Given the description of an element on the screen output the (x, y) to click on. 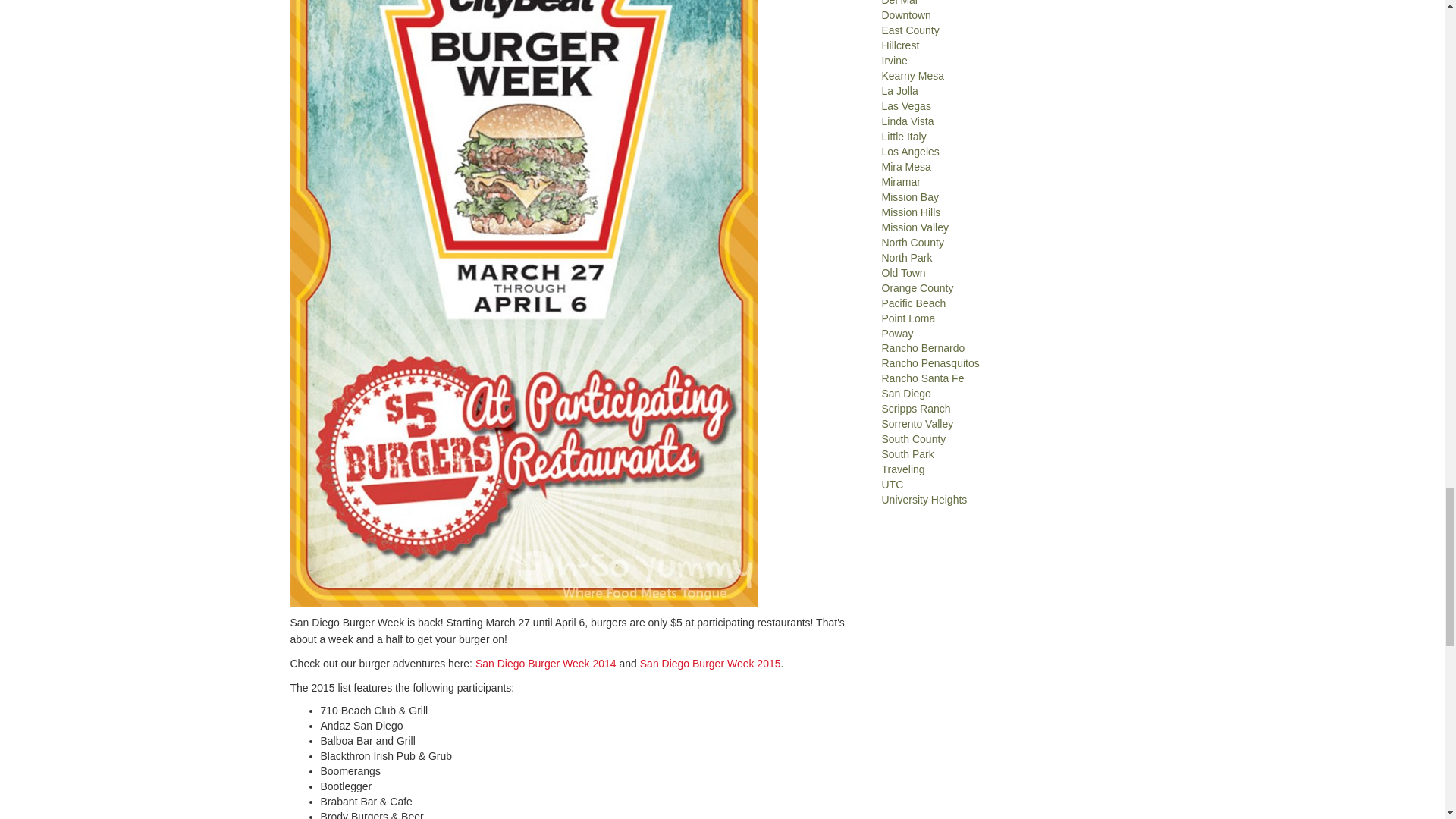
San Diego Burger Week 2014 (545, 663)
San Diego Burger Week 2015 (710, 663)
